Given the description of an element on the screen output the (x, y) to click on. 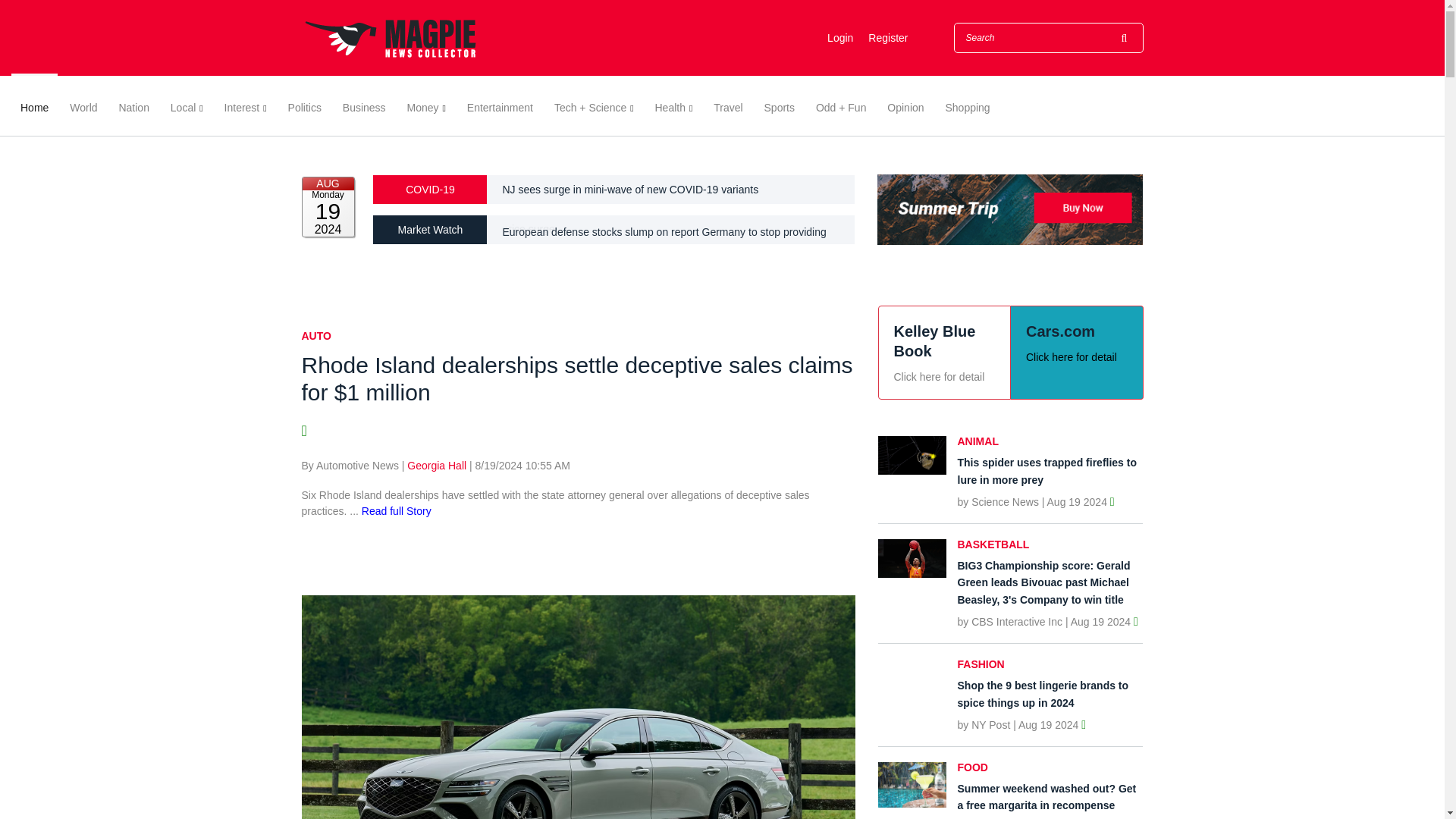
Register (887, 37)
Interest (245, 105)
Local (186, 105)
Nation (133, 105)
World (83, 105)
Login (839, 37)
Home (34, 105)
